Given the description of an element on the screen output the (x, y) to click on. 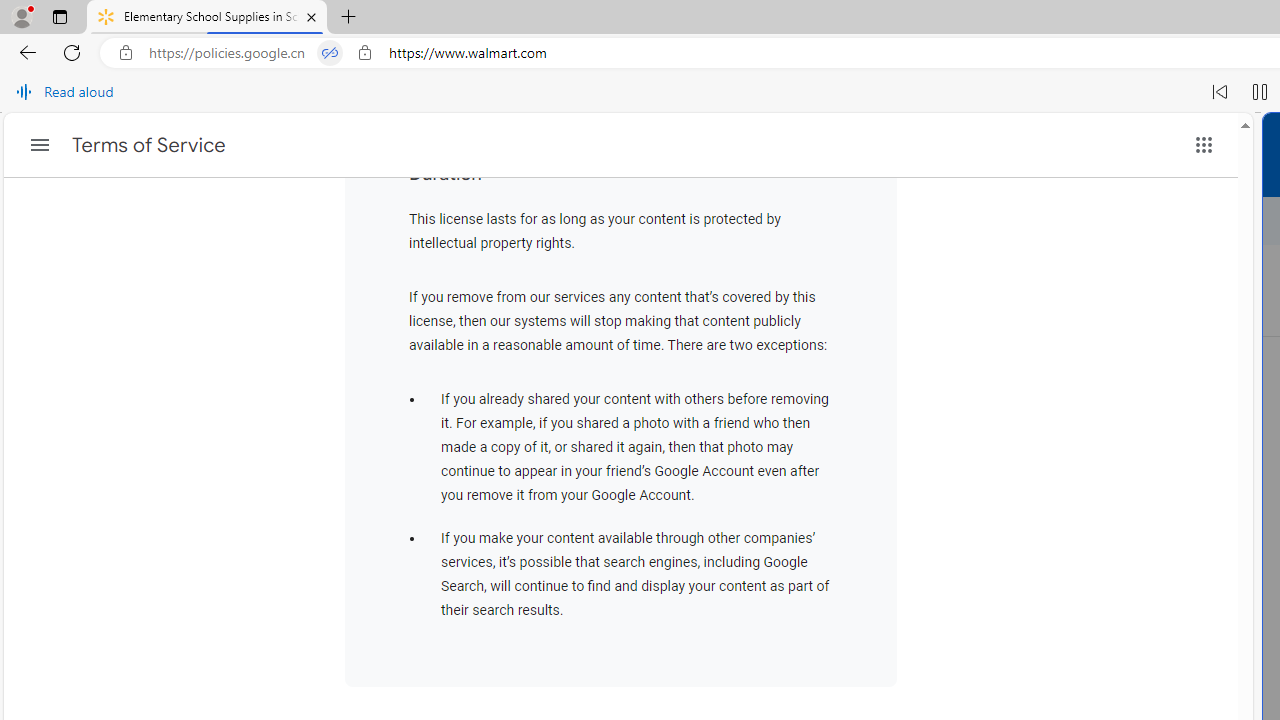
Pause read aloud (Ctrl+Shift+U) (1260, 92)
Read previous paragraph (1220, 92)
Tabs in split screen (330, 53)
